Given the description of an element on the screen output the (x, y) to click on. 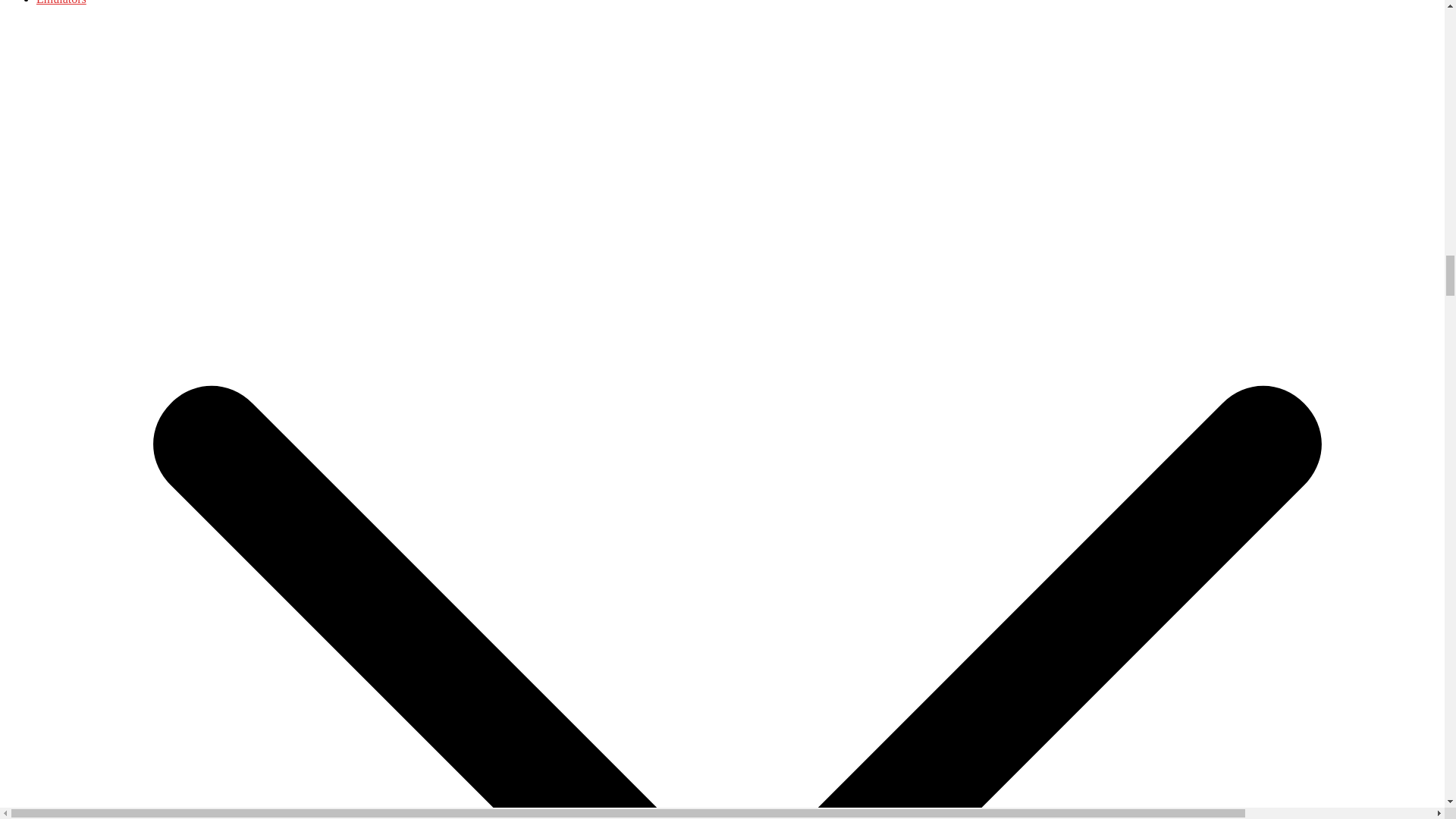
Emulators (60, 2)
